Given the description of an element on the screen output the (x, y) to click on. 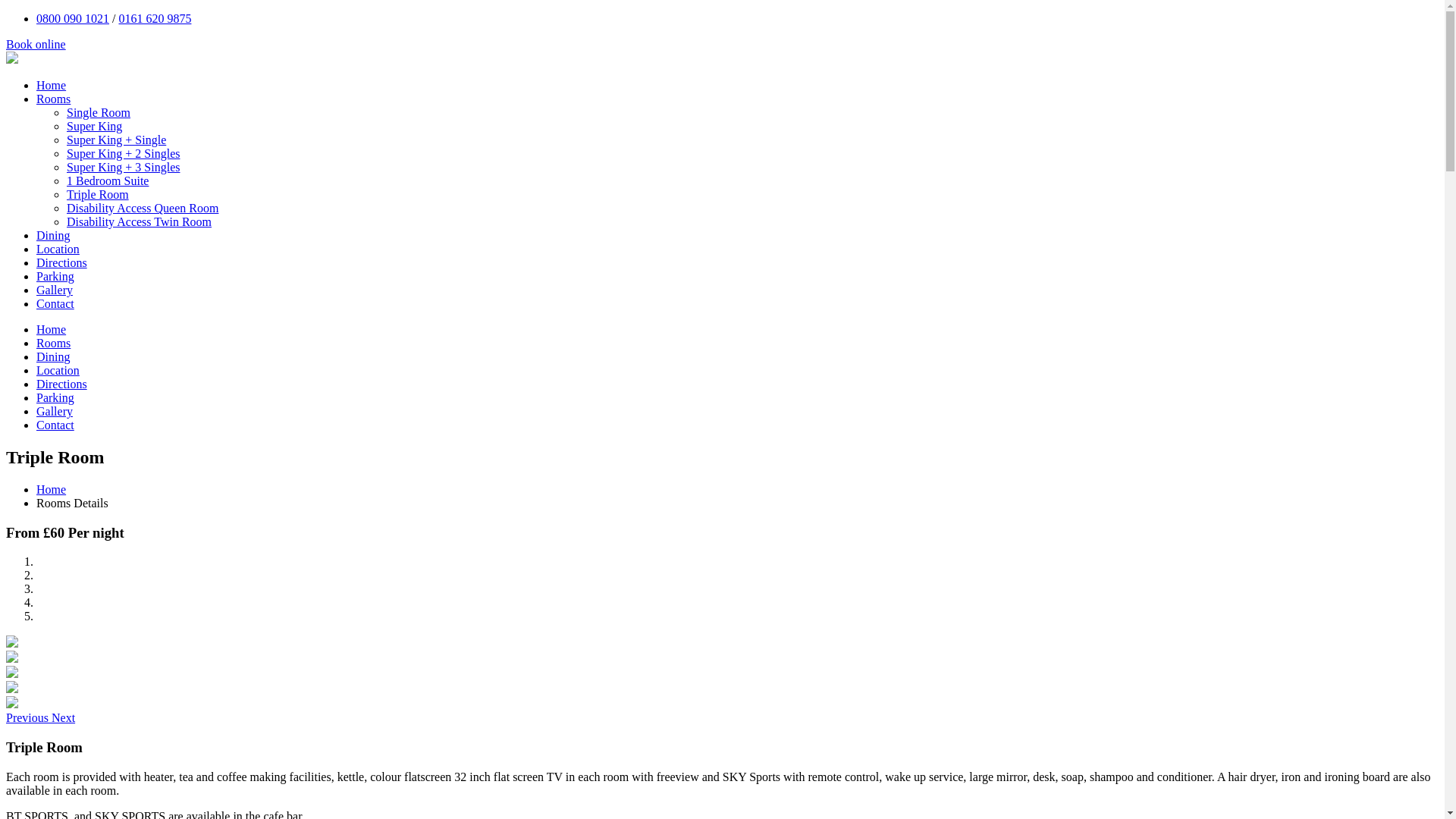
Triple Room Element type: text (97, 194)
Disability Access Twin Room Element type: text (138, 221)
Parking Element type: text (55, 397)
0800 090 1021 Element type: text (72, 18)
Next Element type: text (63, 717)
Dining Element type: text (52, 356)
Previous Element type: text (28, 717)
Single Room Element type: text (98, 112)
0161 620 9875 Element type: text (154, 18)
1 Bedroom Suite Element type: text (107, 180)
Super King + 3 Singles Element type: text (122, 166)
Contact Element type: text (55, 303)
Gallery Element type: text (54, 410)
Super King + Single Element type: text (116, 139)
Super King Element type: text (94, 125)
Book online Element type: text (35, 43)
Gallery Element type: text (54, 289)
Home Element type: text (50, 489)
Contact Element type: text (55, 424)
Disability Access Queen Room Element type: text (142, 207)
Rooms Element type: text (53, 98)
Dining Element type: text (52, 235)
Home Element type: text (50, 329)
Super King + 2 Singles Element type: text (122, 153)
Rooms Element type: text (53, 342)
Directions Element type: text (61, 262)
Directions Element type: text (61, 383)
Home Element type: text (50, 84)
Parking Element type: text (55, 275)
Location Element type: text (57, 370)
Location Element type: text (57, 248)
